Given the description of an element on the screen output the (x, y) to click on. 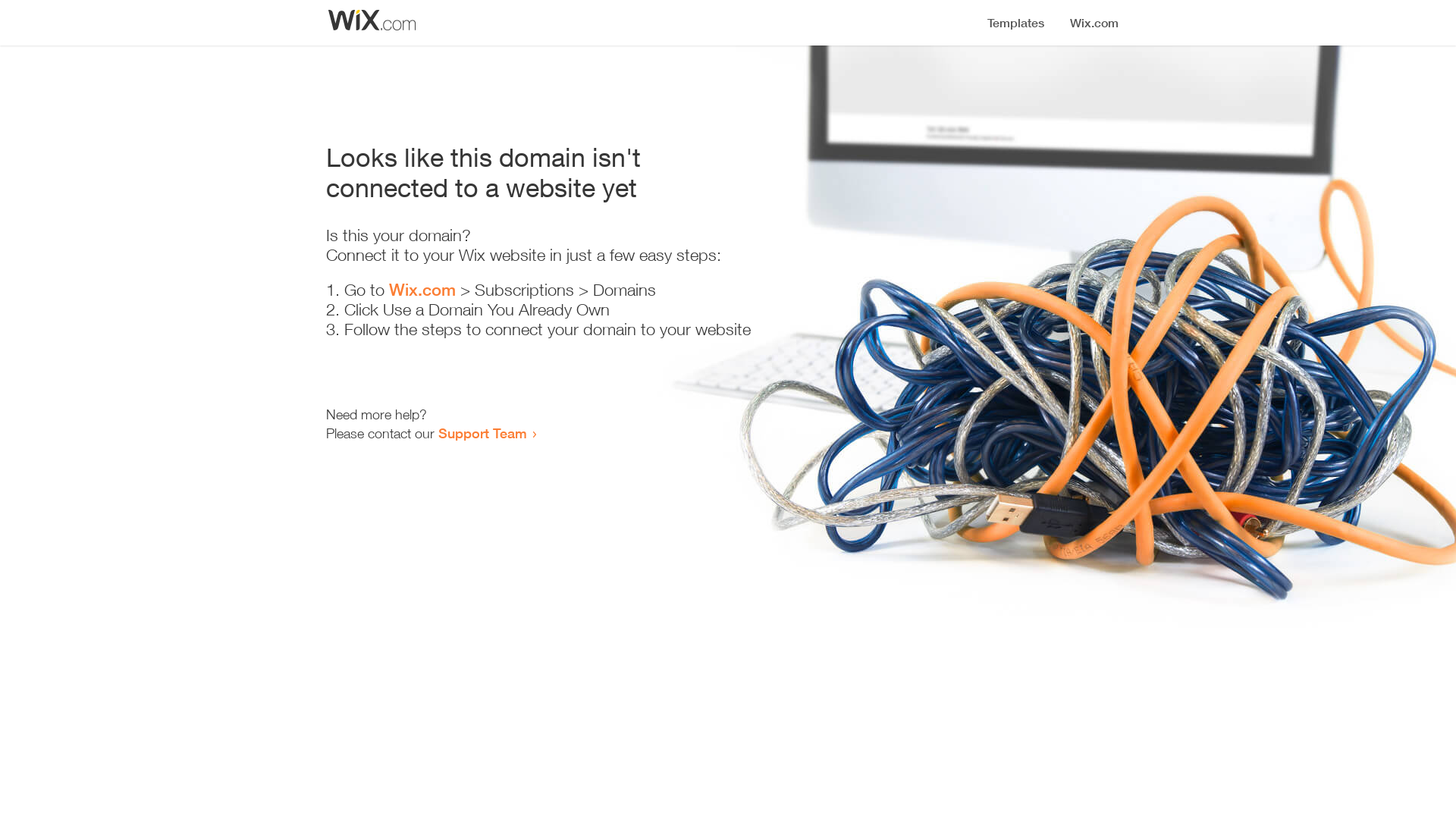
Support Team Element type: text (482, 432)
Wix.com Element type: text (422, 289)
